Given the description of an element on the screen output the (x, y) to click on. 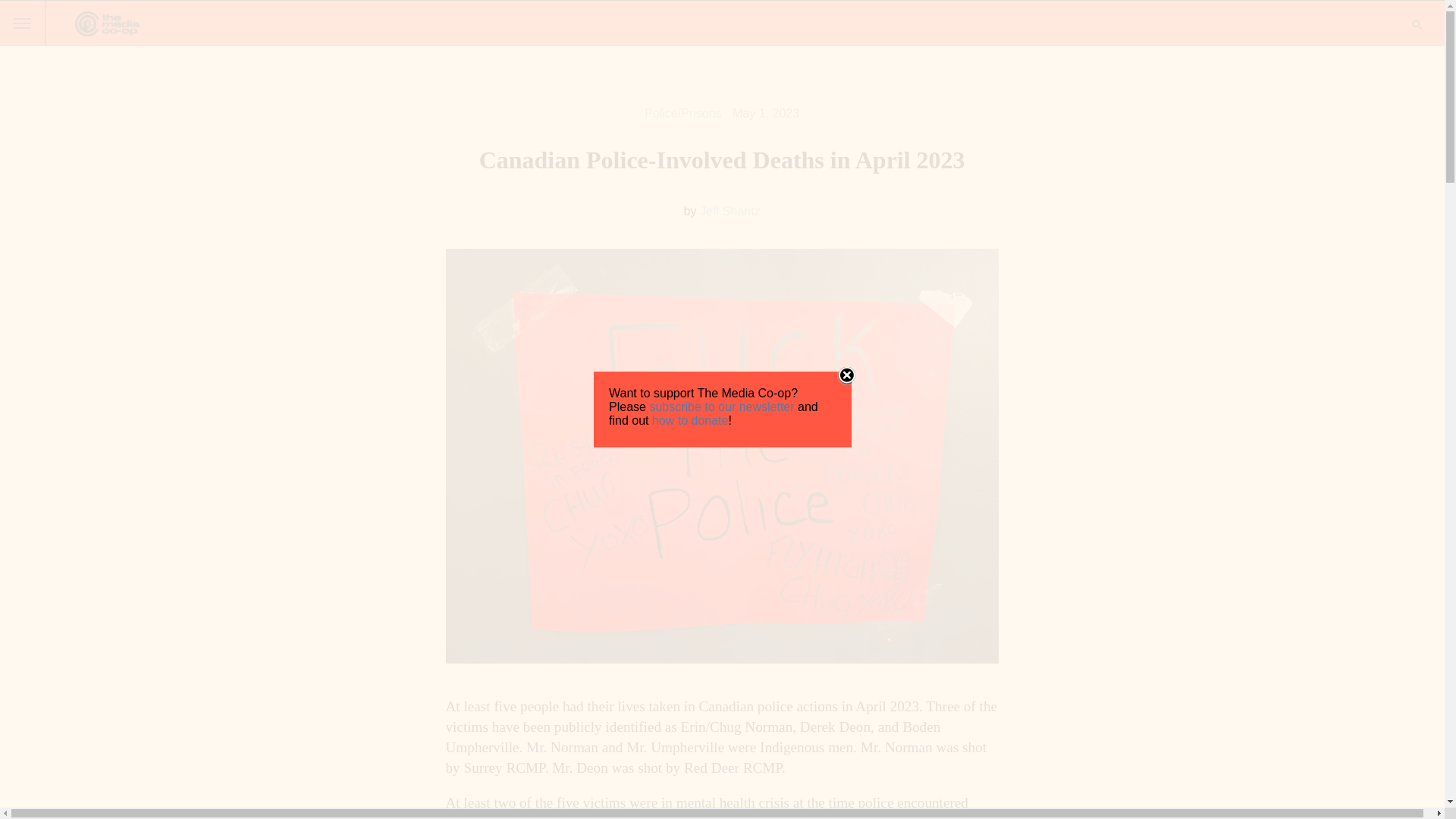
Enter the terms you wish to search for. (1416, 24)
Search (18, 8)
Jeff Shantz (730, 210)
